Given the description of an element on the screen output the (x, y) to click on. 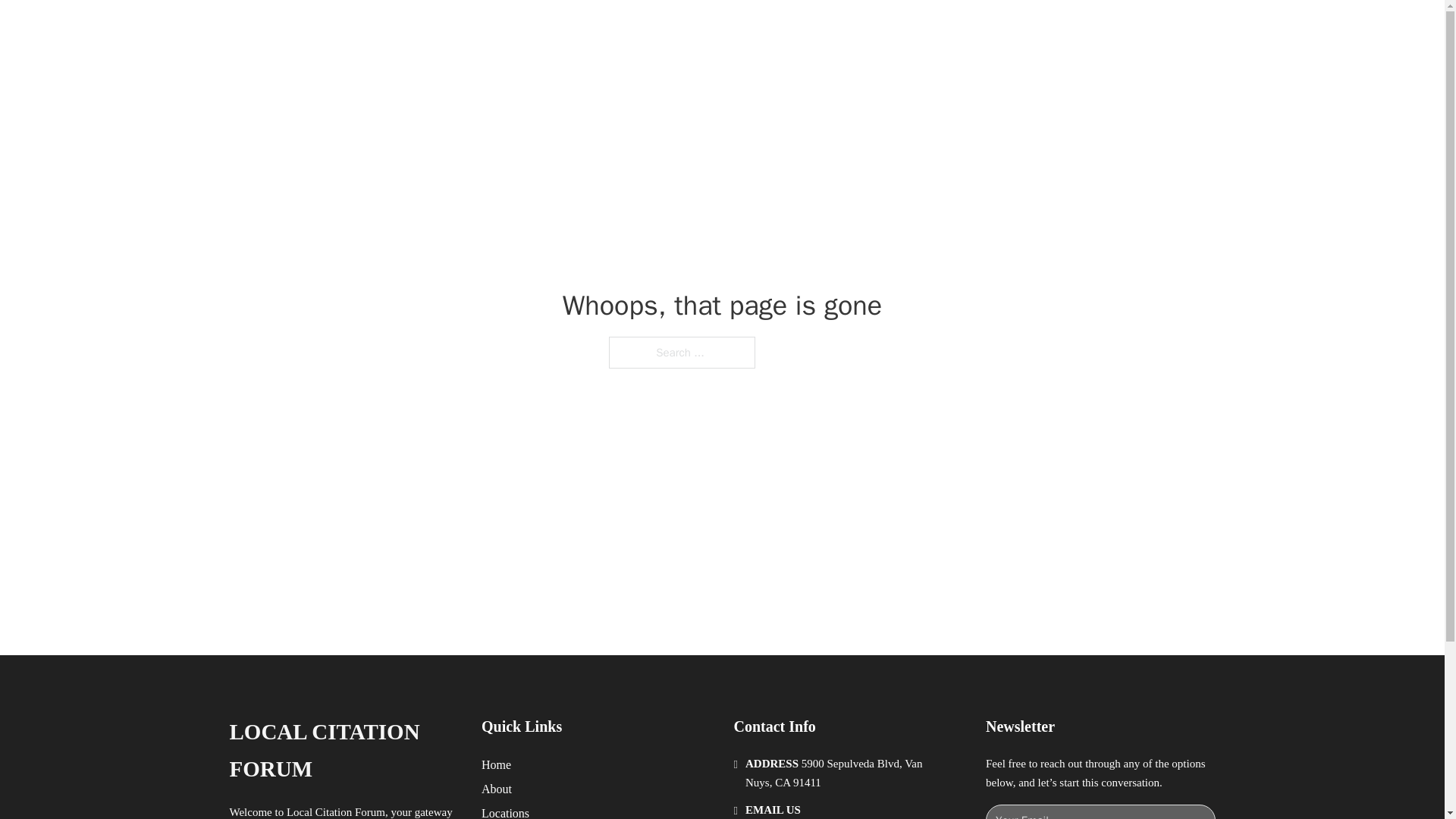
HOME (919, 29)
LOCATIONS (990, 29)
Locations (505, 811)
LOCAL CITATION FORUM (429, 28)
About (496, 788)
Home (496, 764)
LOCAL CITATION FORUM (343, 750)
